Given the description of an element on the screen output the (x, y) to click on. 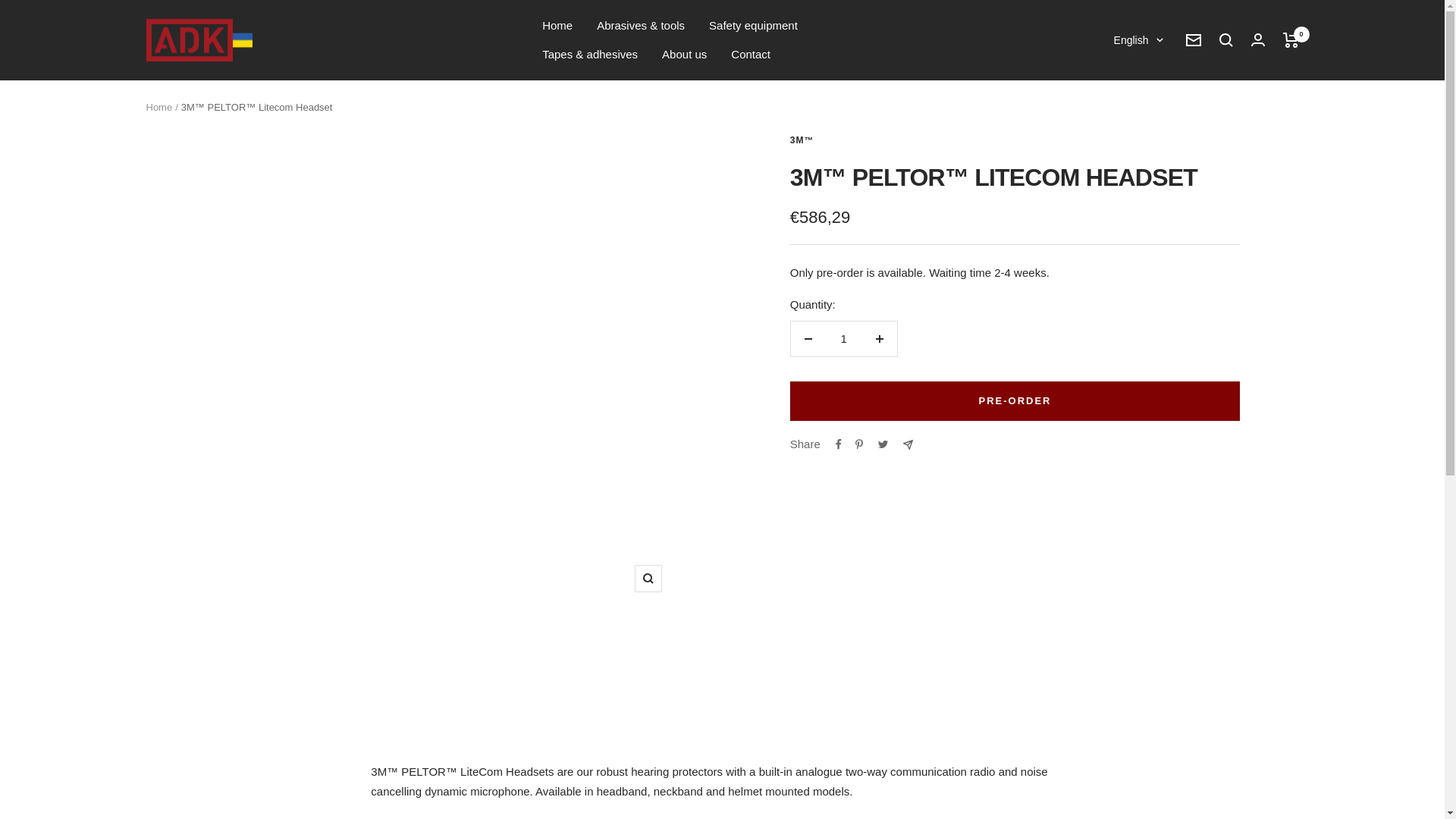
About us (684, 54)
Zoom (648, 578)
Home (158, 107)
Contact (750, 54)
lv (1129, 92)
en (1129, 117)
PRE-ORDER (1015, 400)
0 (1290, 39)
Safety equipment (753, 25)
Increase quantity (878, 338)
Decrease quantity (807, 338)
1 (843, 338)
ADK Latvia (198, 40)
Home (556, 25)
Newsletter (1193, 39)
